Given the description of an element on the screen output the (x, y) to click on. 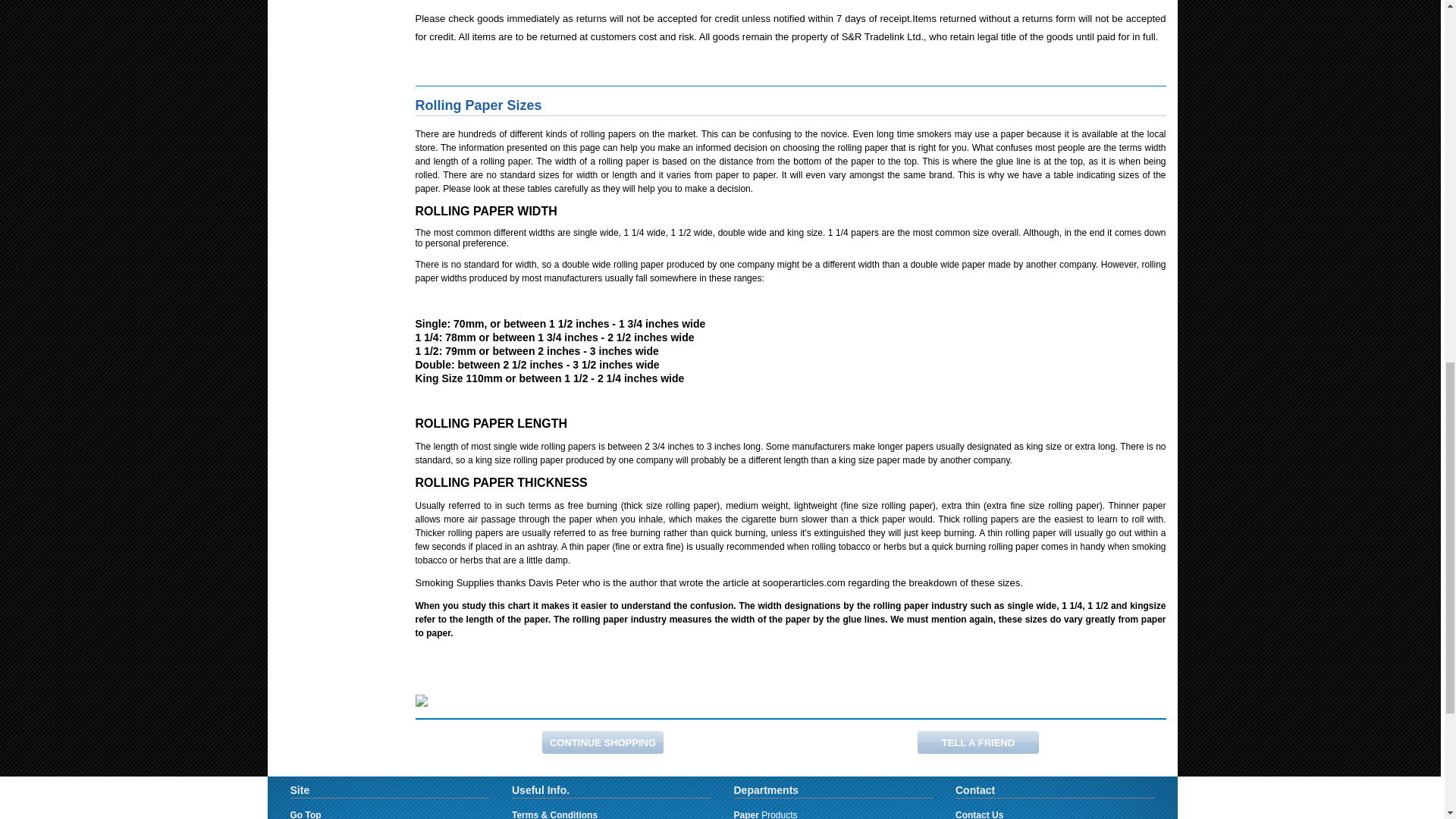
Contact Us (979, 814)
Paper (745, 814)
Go Top (304, 814)
CONTINUE SHOPPING (602, 742)
TELL A FRIEND (978, 742)
